Given the description of an element on the screen output the (x, y) to click on. 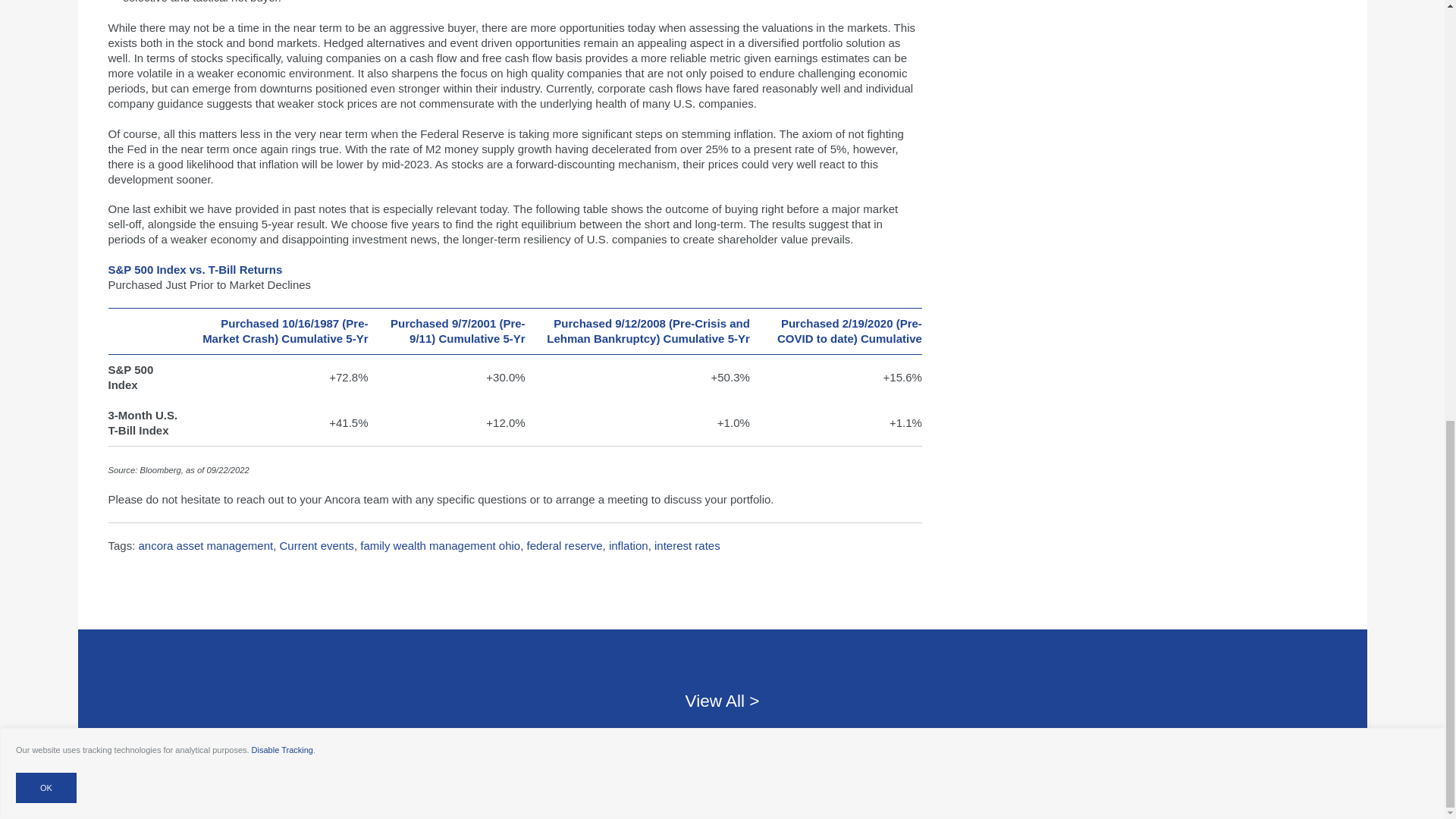
ancora asset management (205, 545)
Current events (316, 545)
LinkedIn (627, 795)
